Given the description of an element on the screen output the (x, y) to click on. 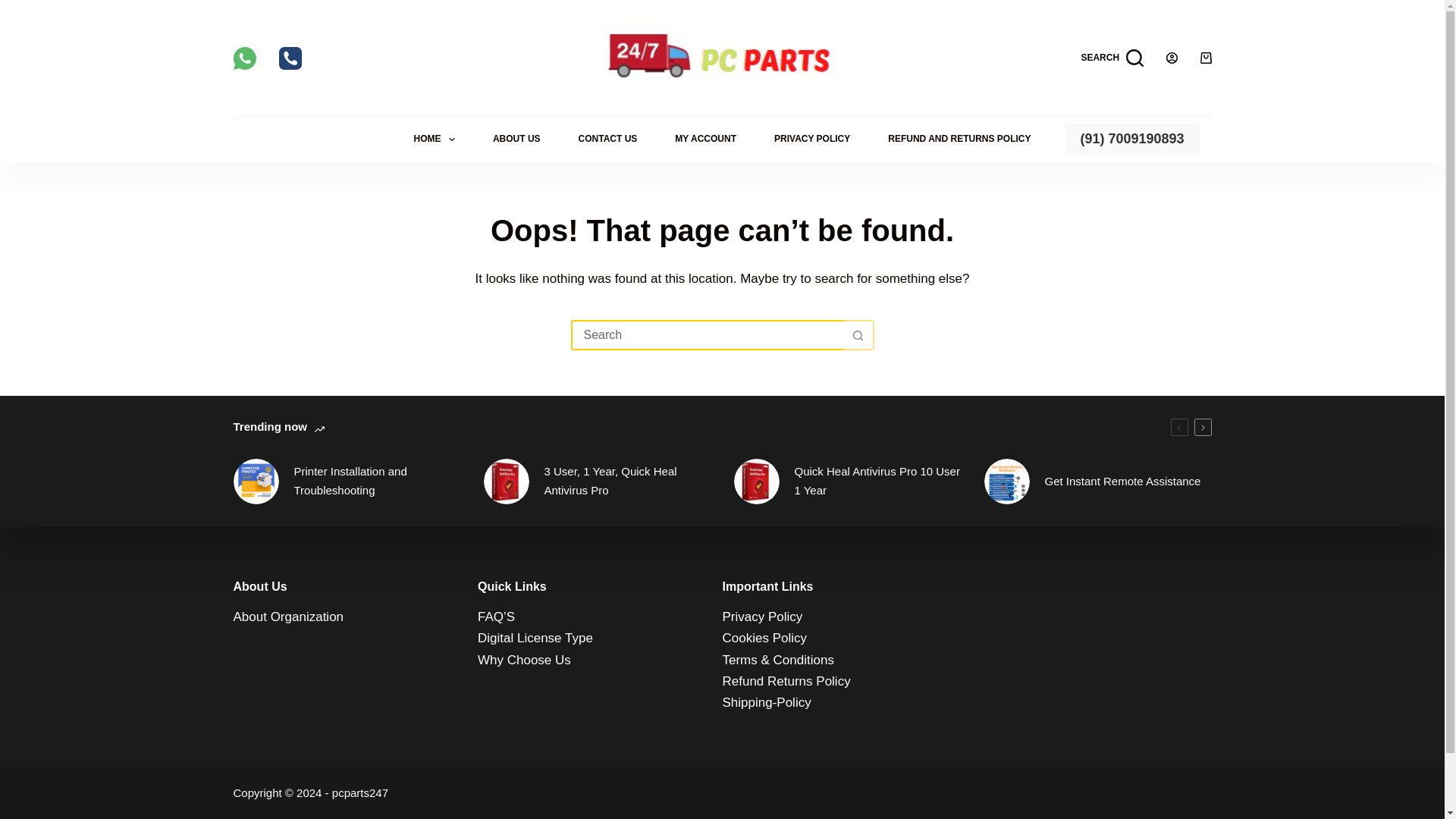
QP 300X300 (755, 481)
QP 300X300 (506, 481)
MY ACCOUNT (705, 139)
ABOUT US (516, 139)
Shopping cart (1205, 57)
SEARCH (1111, 57)
Skip to content (15, 7)
CONTACT US (607, 139)
Printer Installation and Troubleshooting (255, 481)
HOME (433, 139)
PRIVACY POLICY (812, 139)
REFUND AND RETURNS POLICY (959, 139)
Search for... (706, 335)
